Given the description of an element on the screen output the (x, y) to click on. 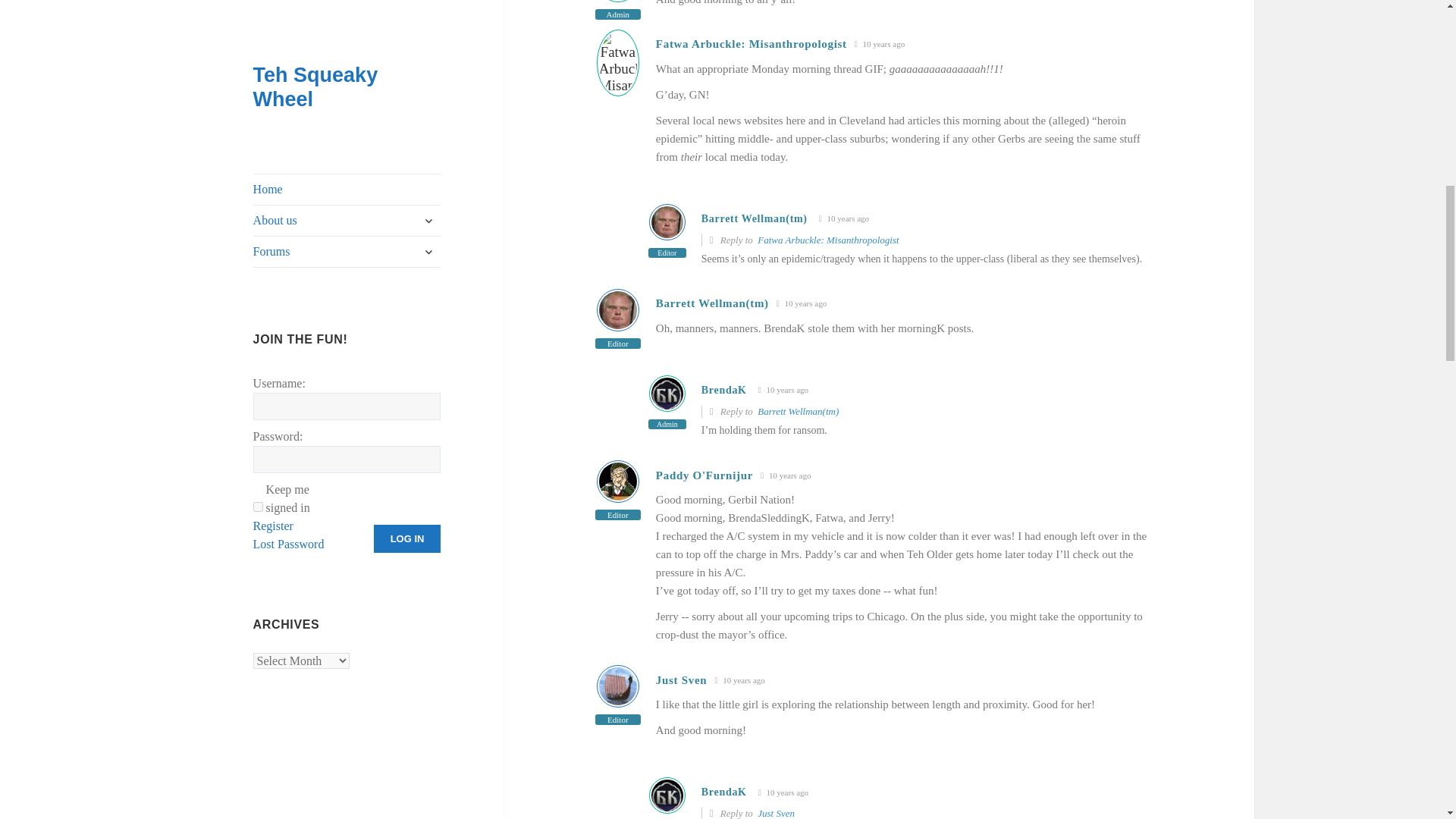
Fatwa Arbuckle: Misanthropologist (751, 43)
February 17, 2014 10:13 am (843, 218)
Fatwa Arbuckle: Misanthropologist (827, 239)
February 17, 2014 8:51 am (879, 43)
